Given the description of an element on the screen output the (x, y) to click on. 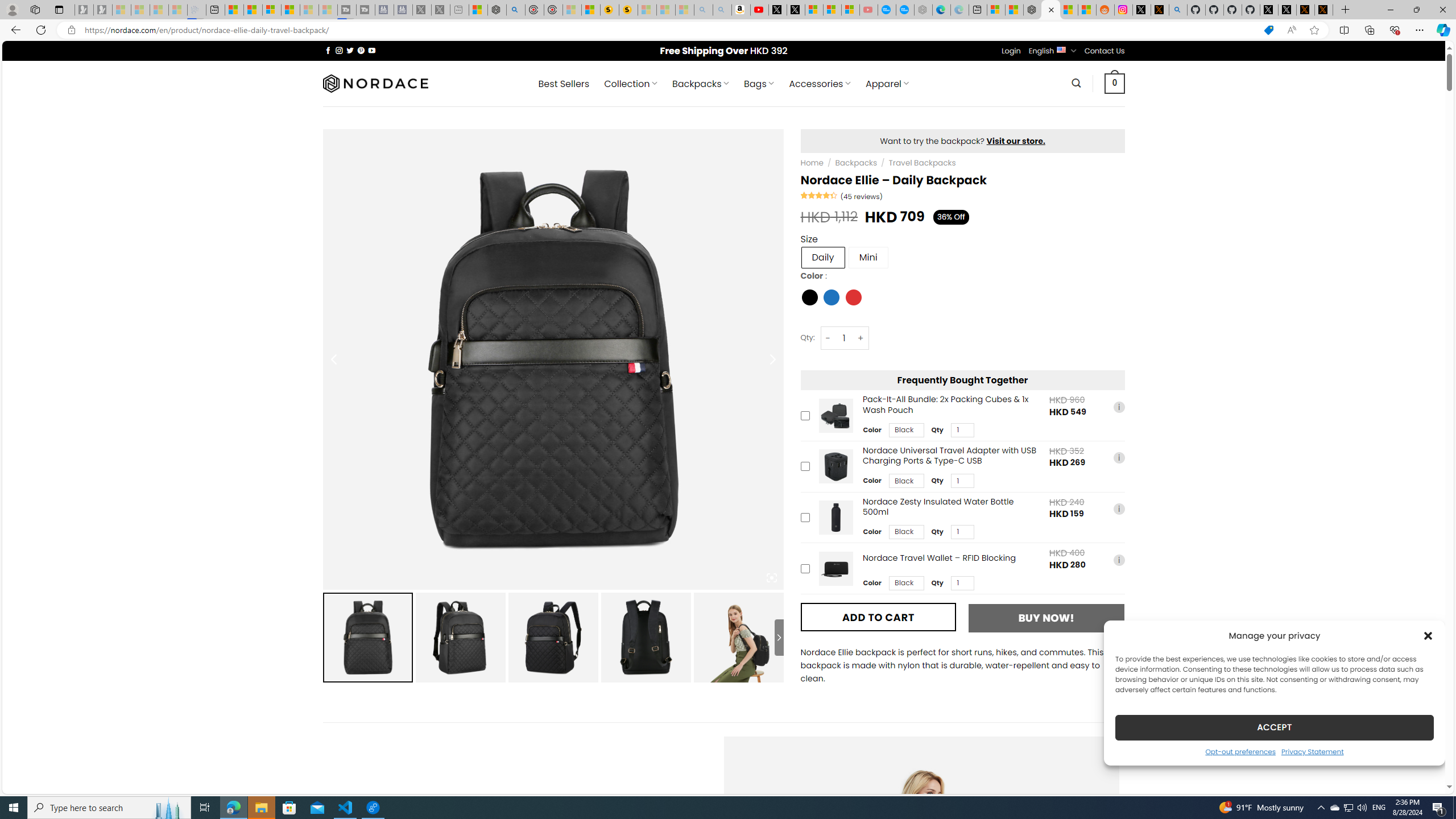
 0  (1115, 83)
Follow on YouTube (371, 49)
Class: iconic-woothumbs-fullscreen (771, 577)
Login (1010, 50)
Follow on Pinterest (360, 49)
